Given the description of an element on the screen output the (x, y) to click on. 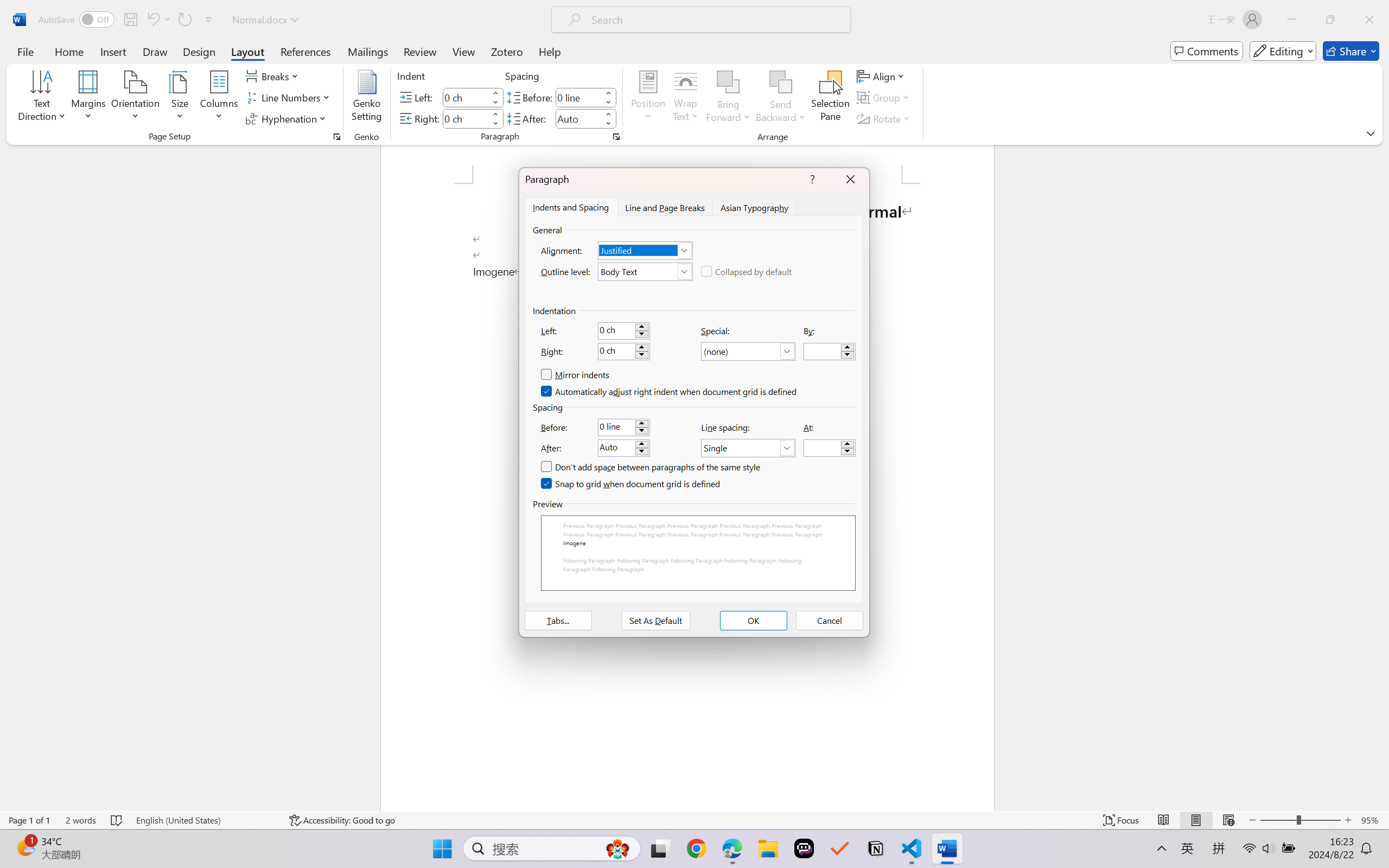
Outline level: (645, 271)
Repeat Paragraph Formatting (184, 19)
Position (647, 97)
At: (829, 447)
Undo Paragraph Formatting (158, 19)
Before: (623, 426)
Less (608, 123)
Indent Right (465, 118)
Breaks (273, 75)
